Given the description of an element on the screen output the (x, y) to click on. 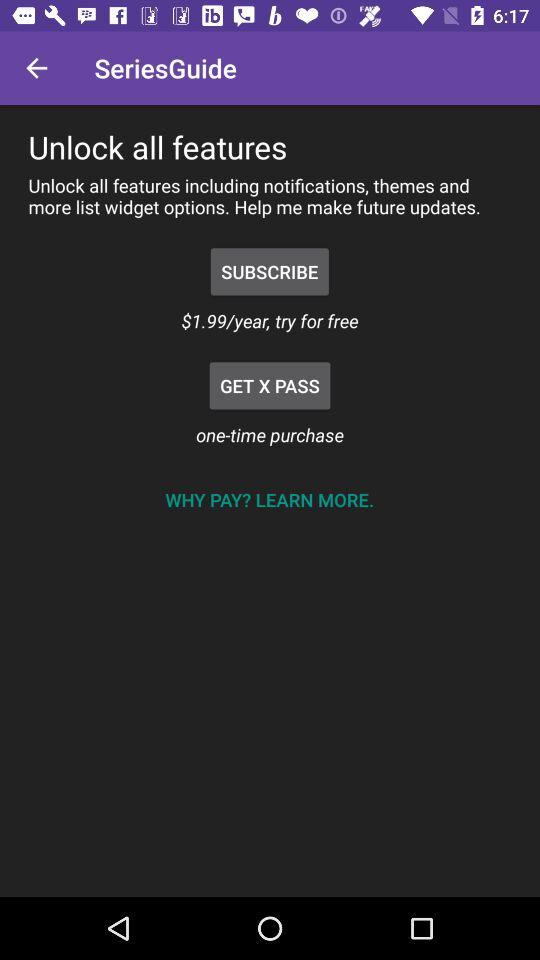
launch get x pass item (269, 385)
